Given the description of an element on the screen output the (x, y) to click on. 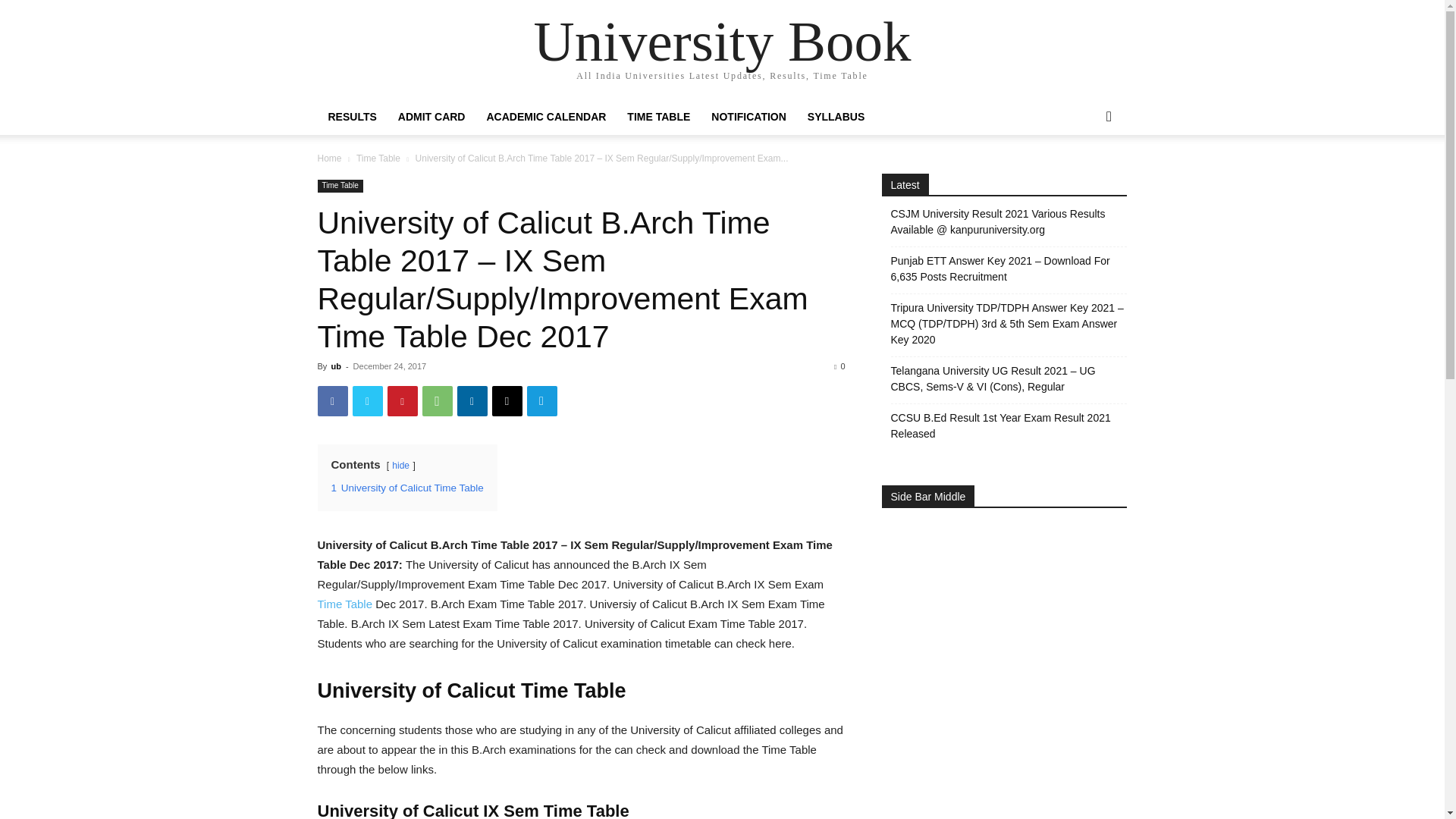
Email (506, 400)
View all posts in Time Table (378, 158)
Search (1085, 177)
NOTIFICATION (748, 116)
Facebook (332, 400)
ADMIT CARD (431, 116)
ACADEMIC CALENDAR (545, 116)
Telegram (540, 400)
SYLLABUS (835, 116)
University Book (722, 41)
TIME TABLE (657, 116)
1 University of Calicut Time Table (406, 487)
Time Table (339, 185)
Time Table (344, 603)
WhatsApp (436, 400)
